Given the description of an element on the screen output the (x, y) to click on. 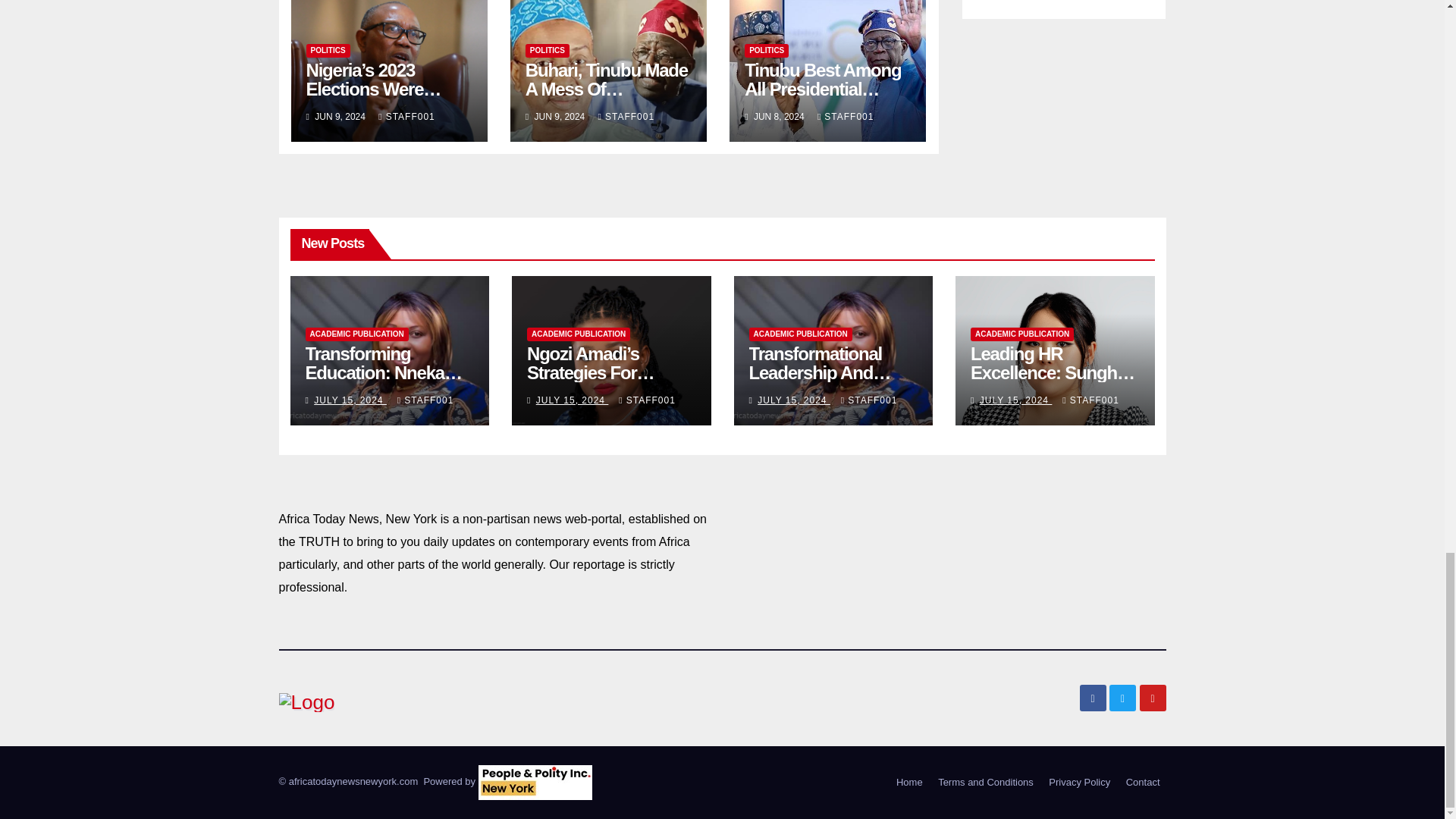
POLITICS (547, 50)
STAFF001 (406, 116)
POLITICS (327, 50)
